Given the description of an element on the screen output the (x, y) to click on. 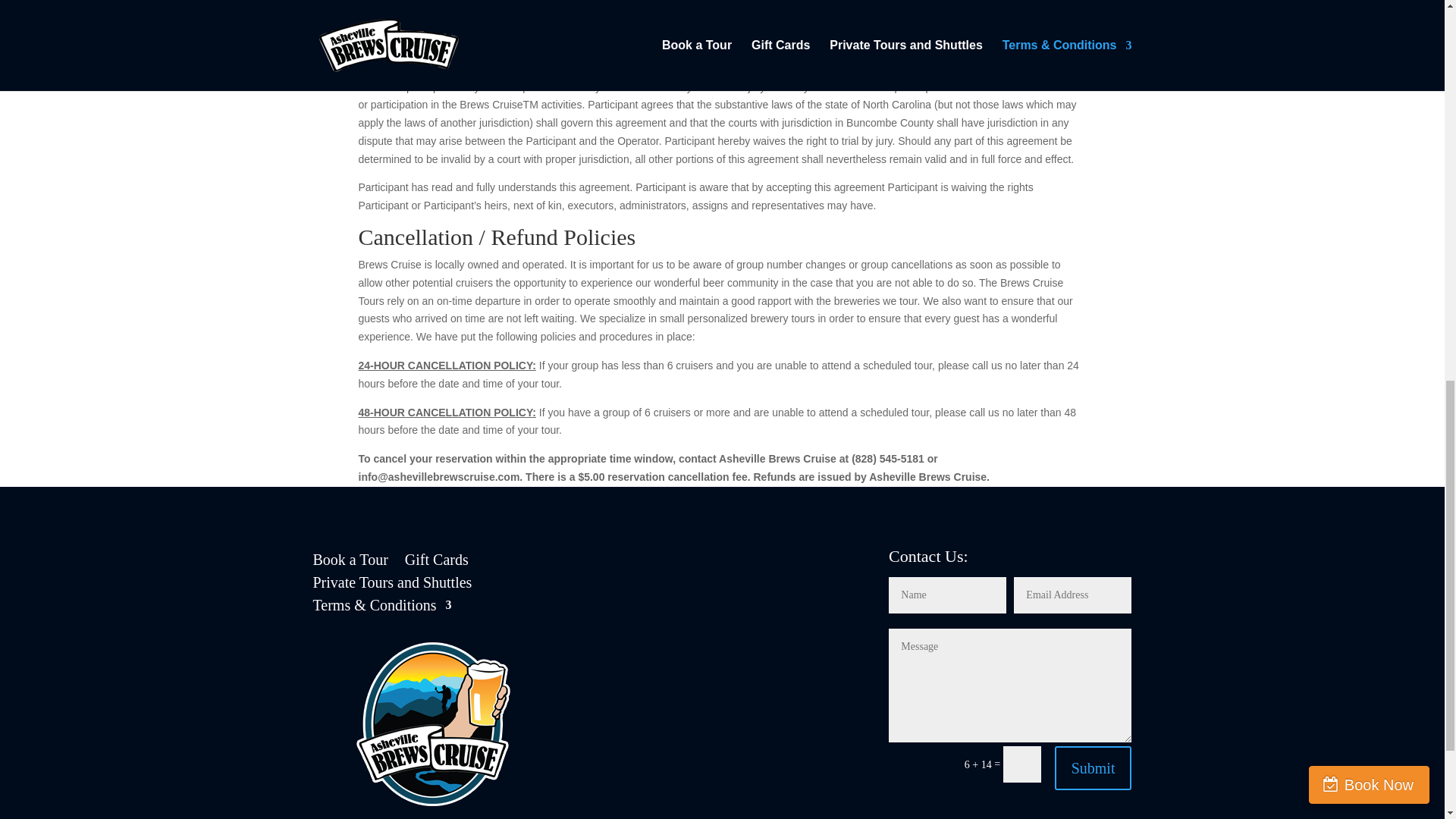
Submit (1093, 768)
FareHarbor (1342, 64)
Book a Tour (350, 562)
Gift Cards (436, 562)
Private Tours and Shuttles (392, 585)
LOGO-ASHEVILLEBREWSCRUISE (434, 724)
